Given the description of an element on the screen output the (x, y) to click on. 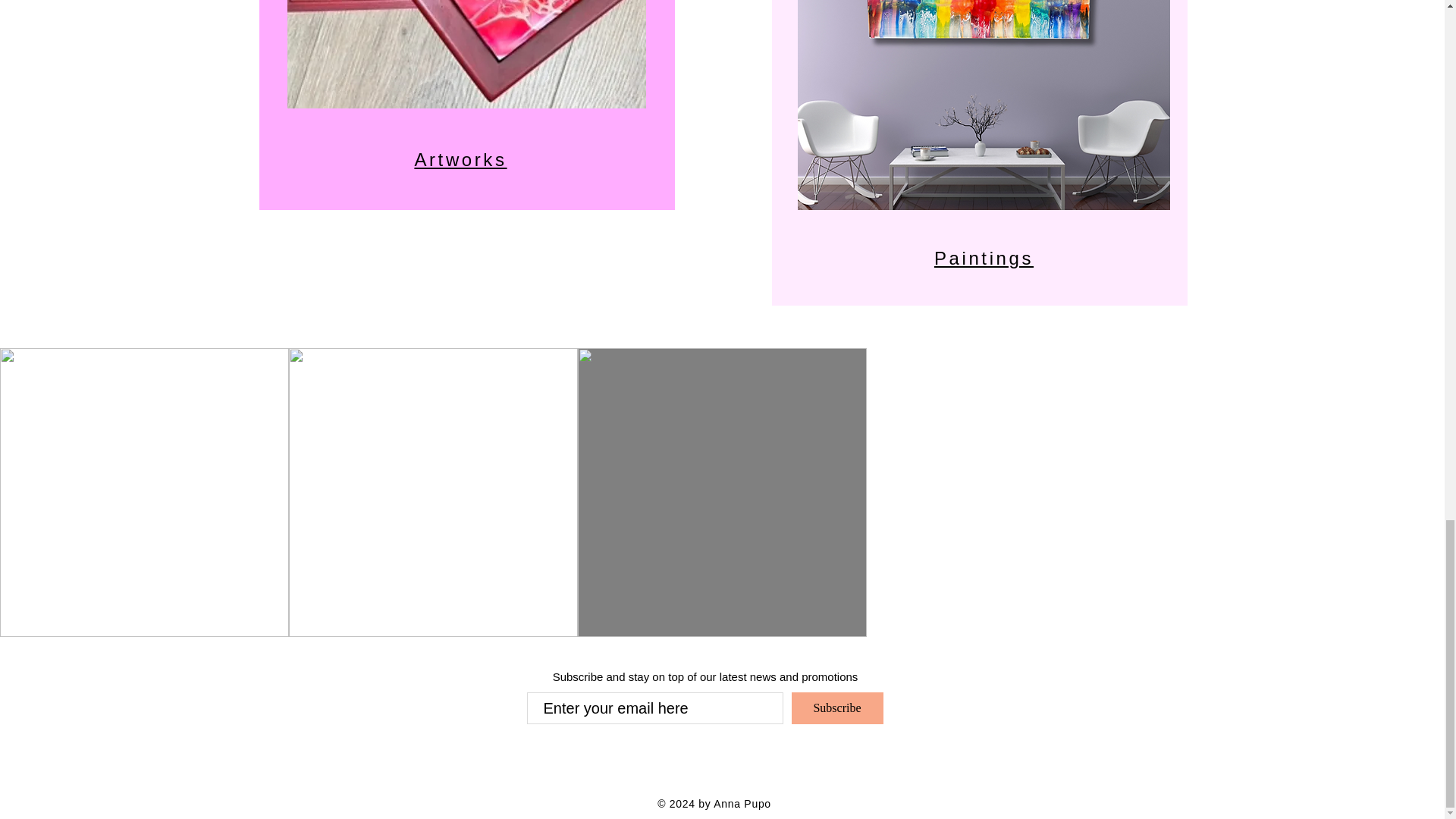
Subscribe (837, 707)
Artworks (459, 159)
Paintings (983, 258)
